Given the description of an element on the screen output the (x, y) to click on. 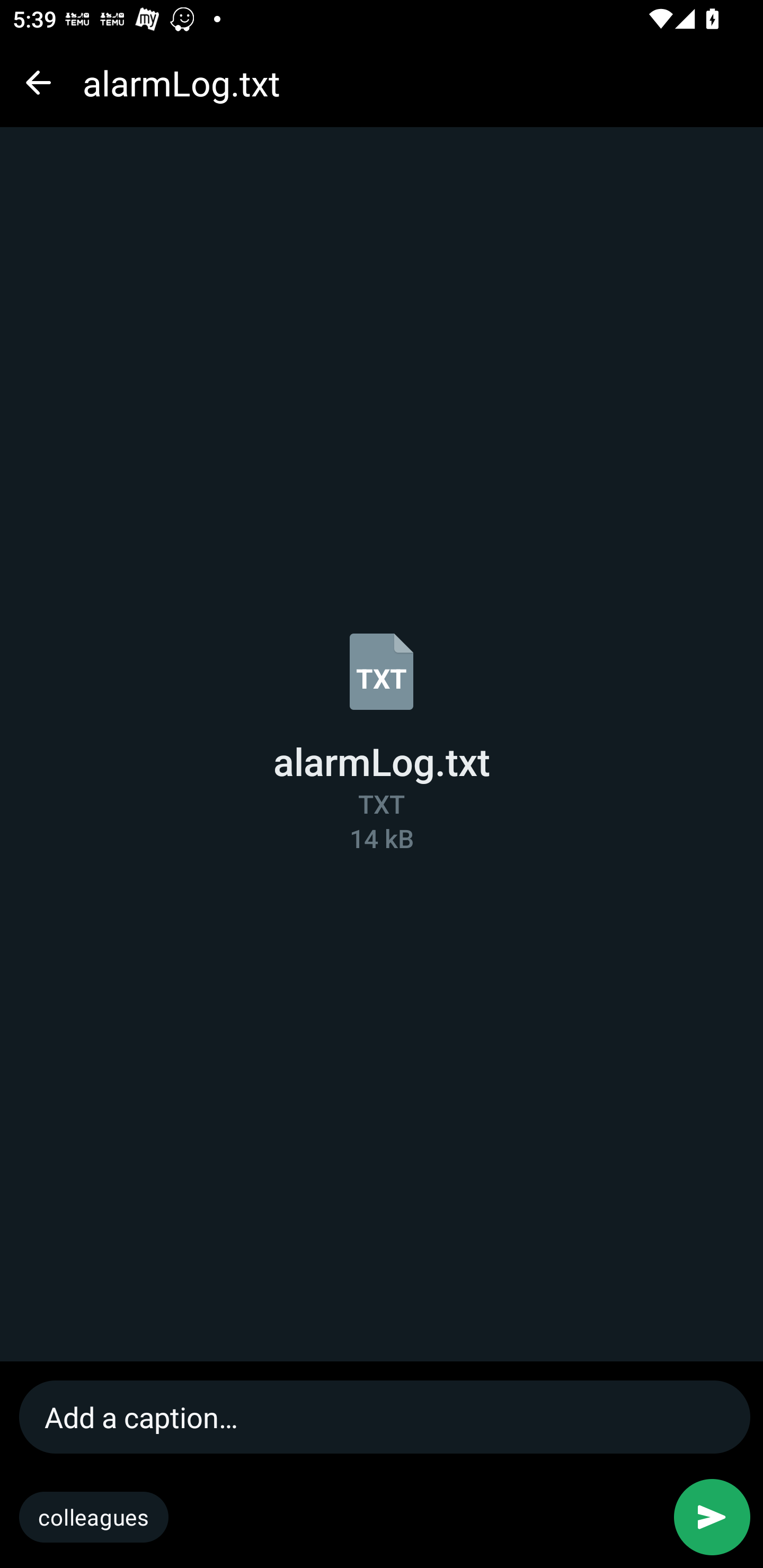
Navigate up (38, 82)
Add a caption… (385, 1416)
colleagues (93, 1516)
Send (711, 1516)
